Given the description of an element on the screen output the (x, y) to click on. 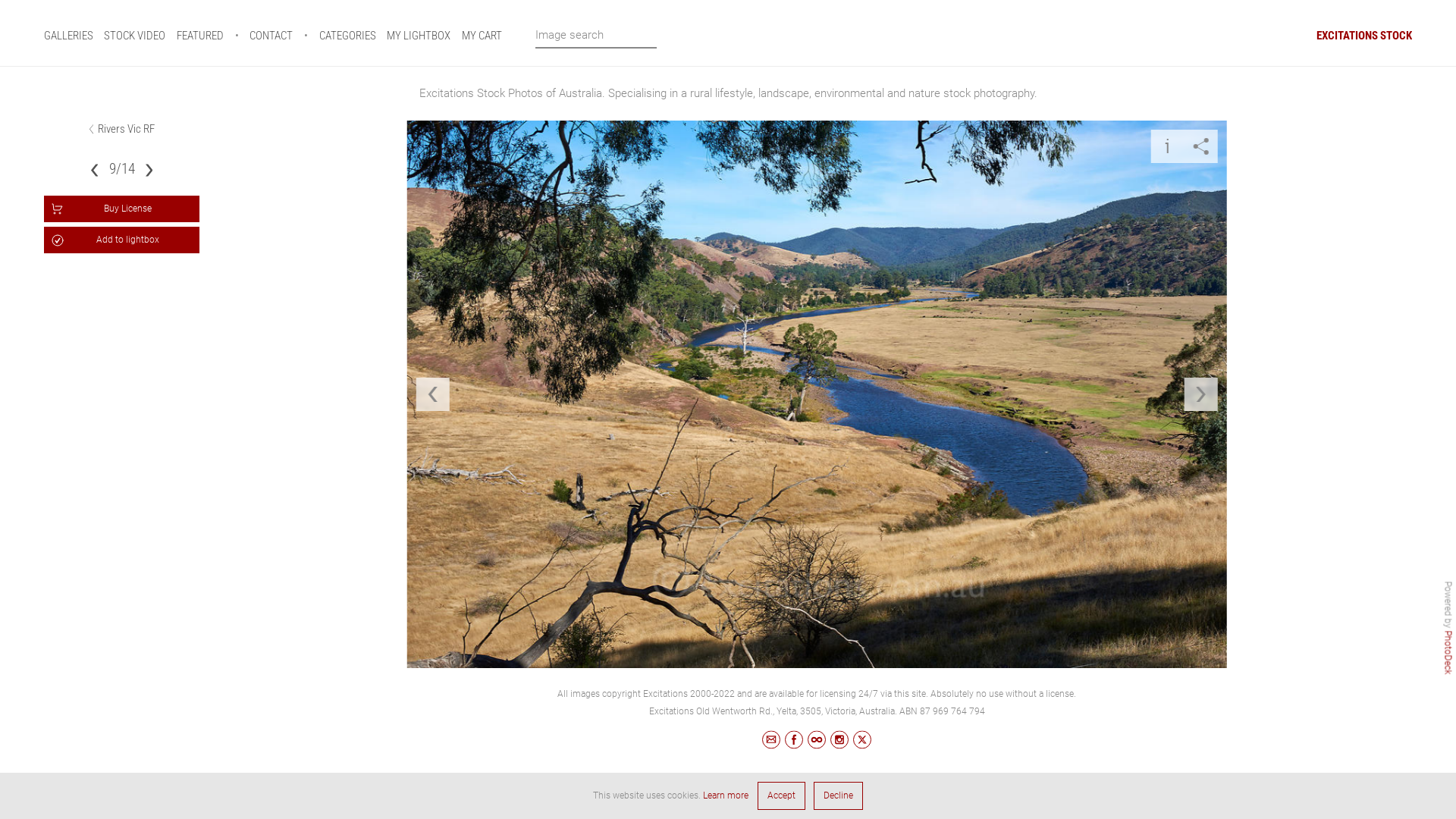
9/14 Element type: text (121, 168)
FEATURED Element type: text (199, 35)
STOCK VIDEO Element type: text (134, 35)
CATEGORIES Element type: text (347, 35)
GALLERIES Element type: text (68, 35)
Learn more Element type: text (725, 795)
EXCITATIONS STOCK Element type: text (1364, 35)
MY CART Element type: text (481, 35)
MY LIGHTBOX Element type: text (418, 35)
Add to lightbox Element type: text (121, 239)
Rivers Vic RF Element type: text (125, 127)
Decline Element type: text (837, 795)
Accept Element type: text (780, 795)
Buy License Element type: text (121, 208)
CONTACT Element type: text (270, 35)
